Given the description of an element on the screen output the (x, y) to click on. 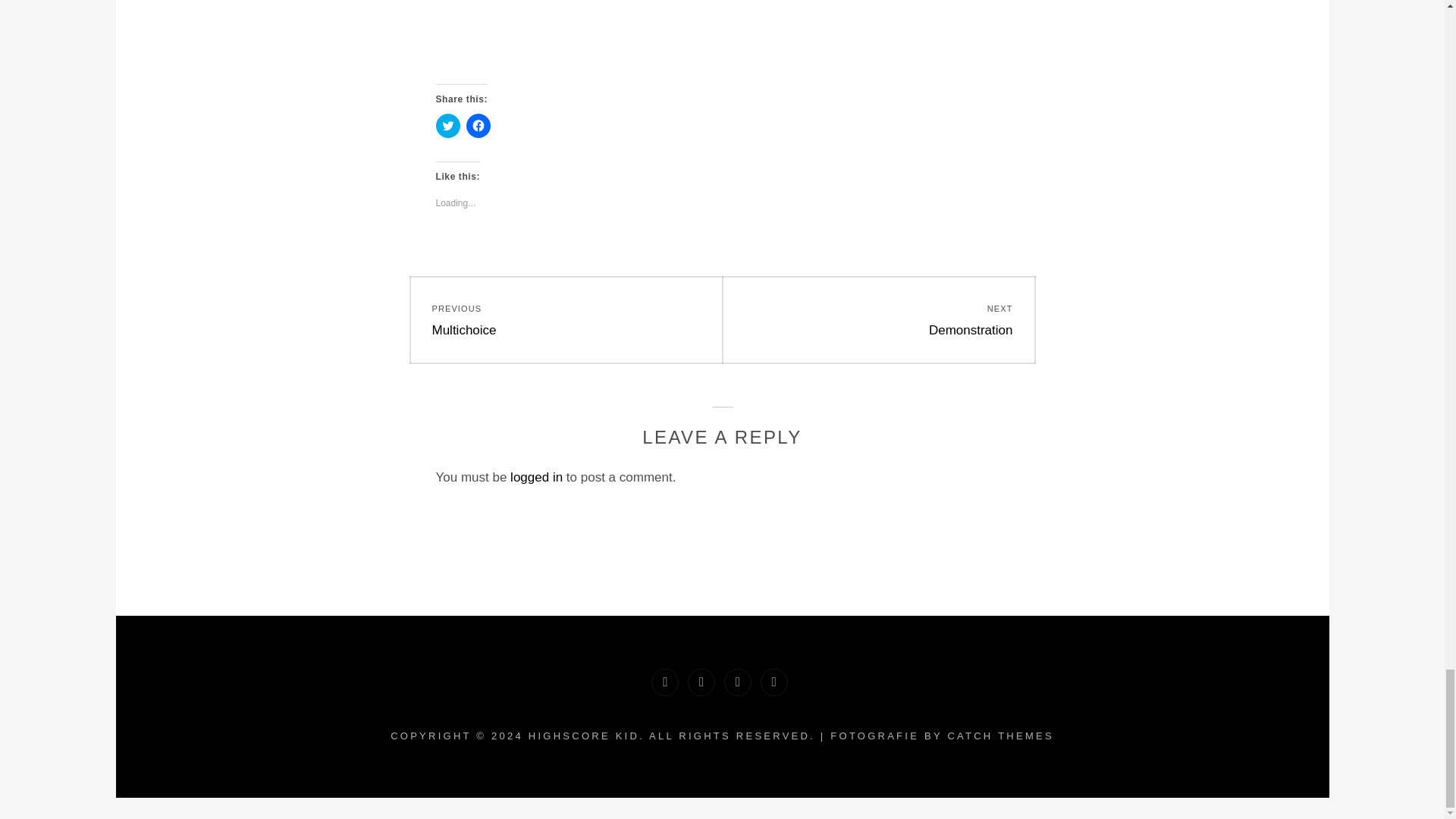
Click to share on Facebook (477, 125)
Click to share on Twitter (447, 125)
